Given the description of an element on the screen output the (x, y) to click on. 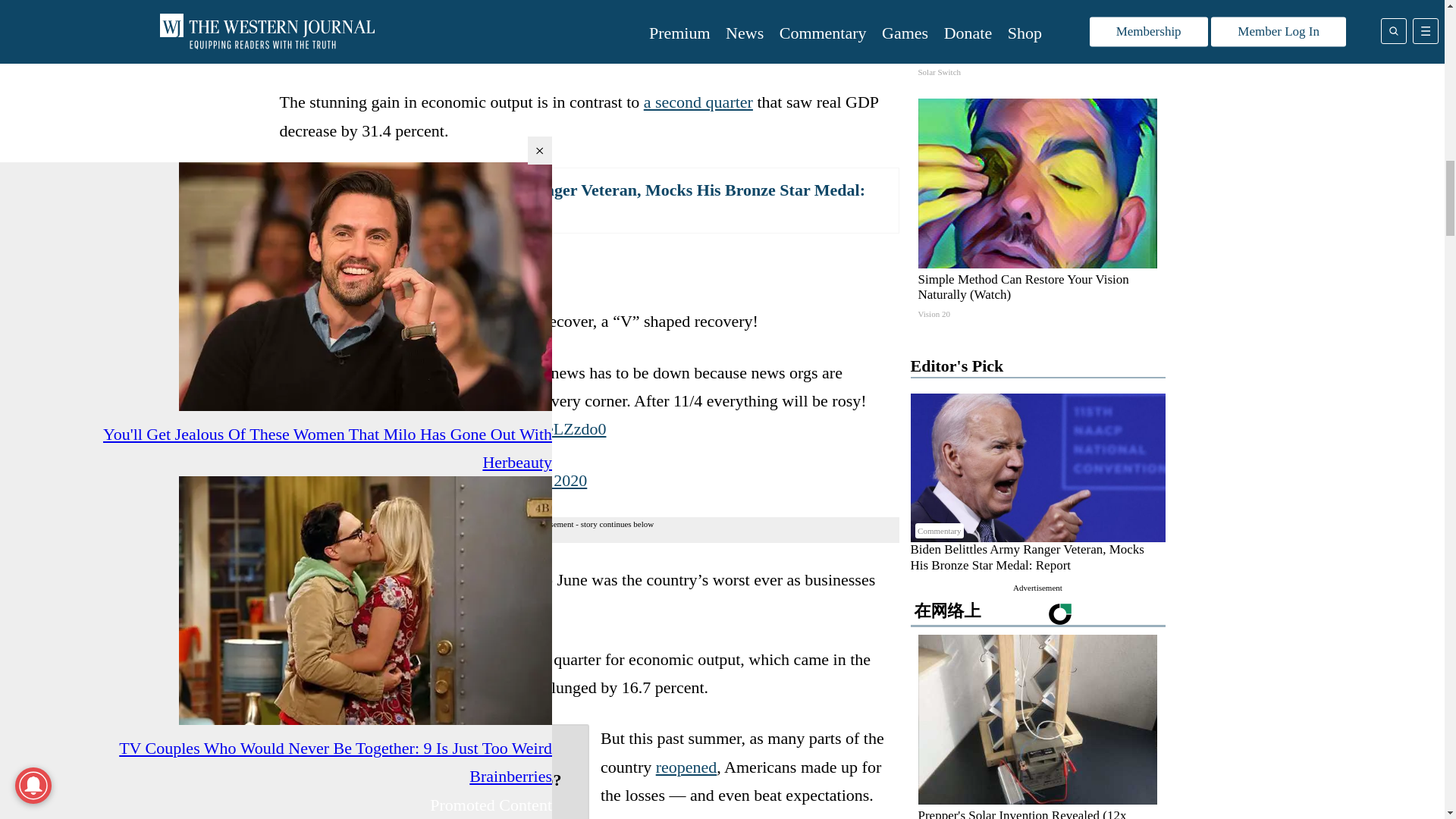
yes (300, 808)
no (345, 808)
